Given the description of an element on the screen output the (x, y) to click on. 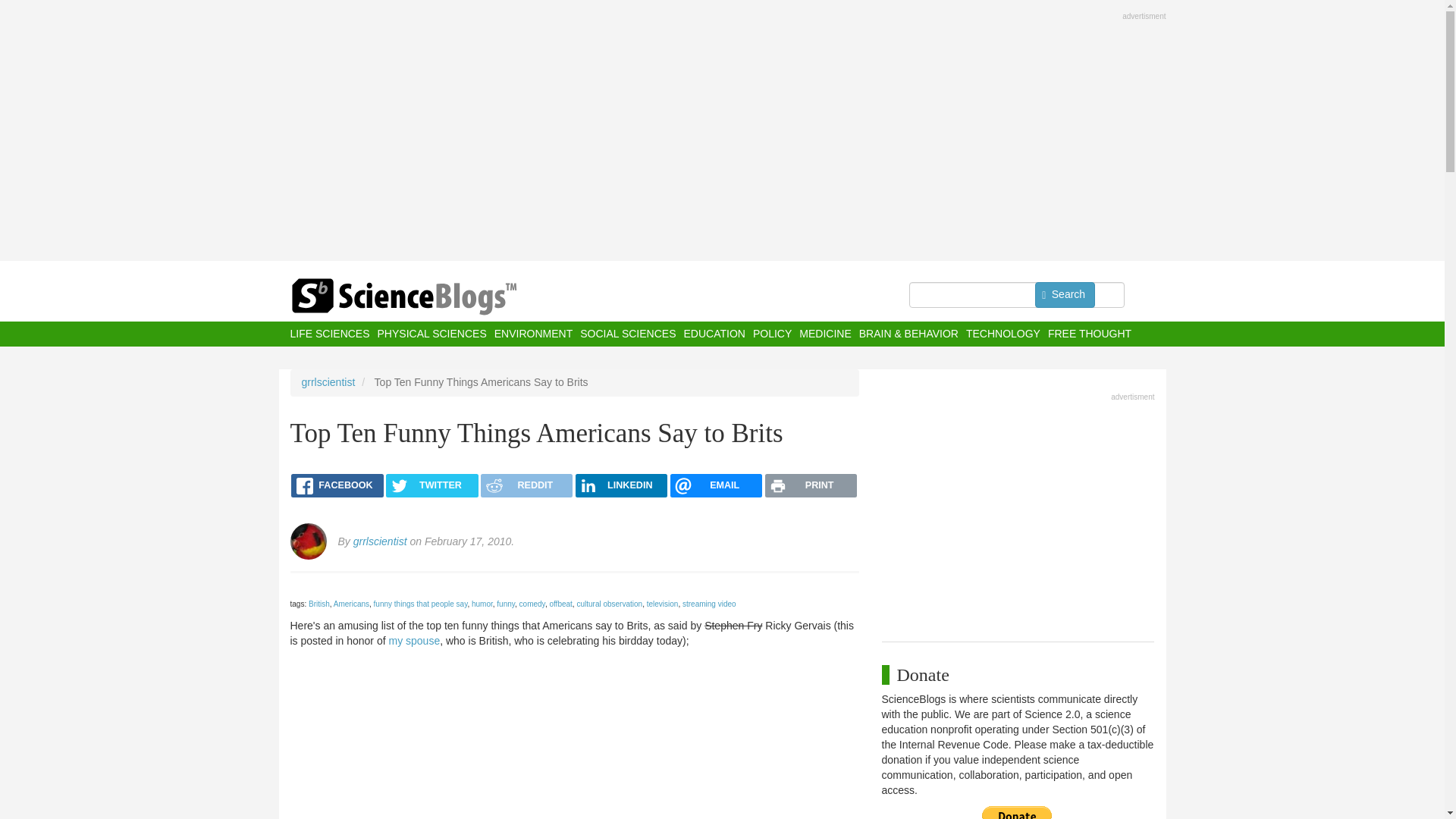
FREE THOUGHT (1089, 334)
Home (433, 296)
comedy (531, 603)
LINKEDIN (620, 485)
grrlscientist (380, 541)
PRINT (811, 485)
streaming video (709, 603)
TWITTER (431, 485)
funny things that people say (420, 603)
humor (482, 603)
REDDIT (526, 485)
POLICY (772, 334)
LIFE SCIENCES (329, 334)
ENVIRONMENT (533, 334)
